Given the description of an element on the screen output the (x, y) to click on. 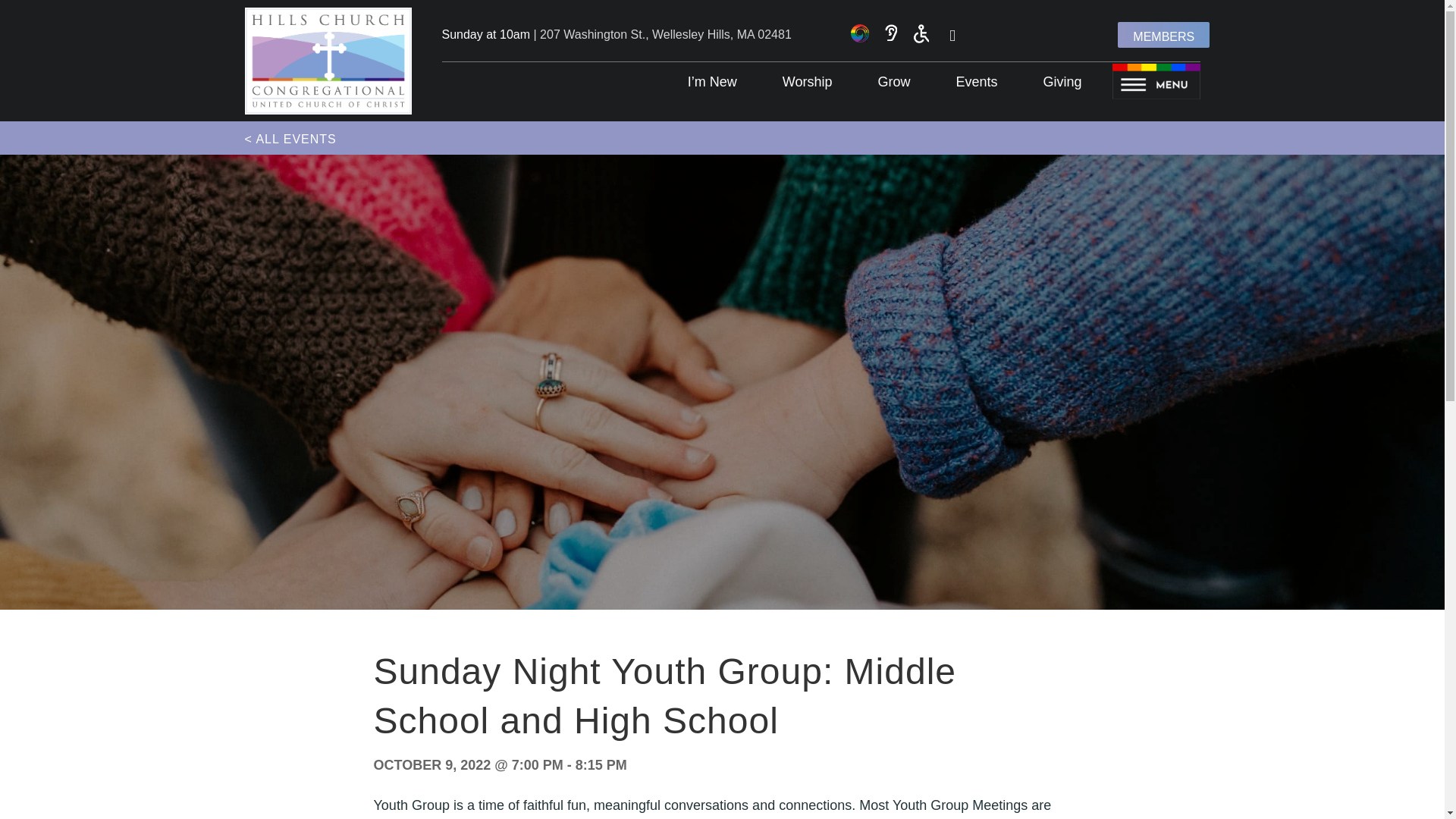
UCC-Comma-Rainbow (859, 33)
WHCClogoR new (327, 60)
Giving (1062, 81)
Events (975, 81)
MEMBERS (1163, 34)
Grow (893, 81)
Group 382 (1155, 81)
Worship (807, 81)
